Given the description of an element on the screen output the (x, y) to click on. 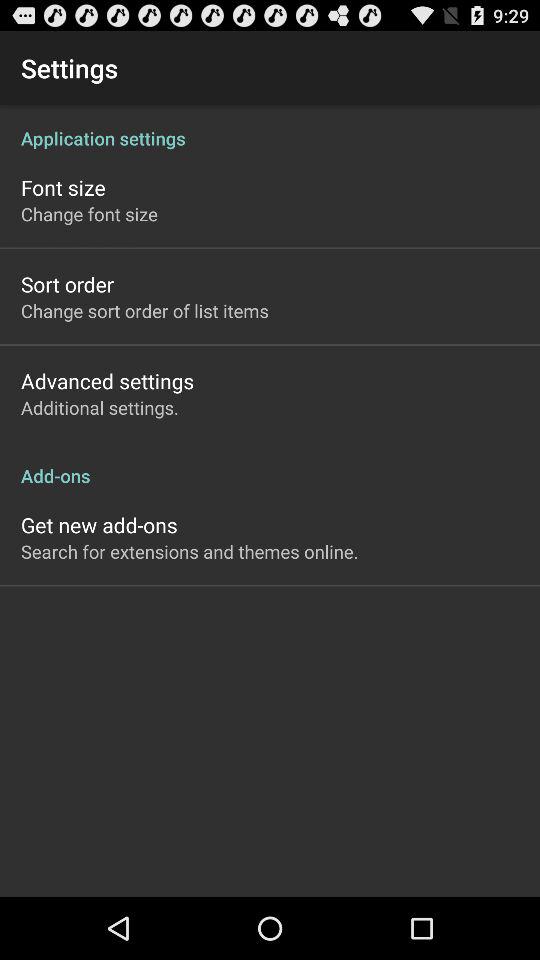
launch advanced settings (107, 380)
